Given the description of an element on the screen output the (x, y) to click on. 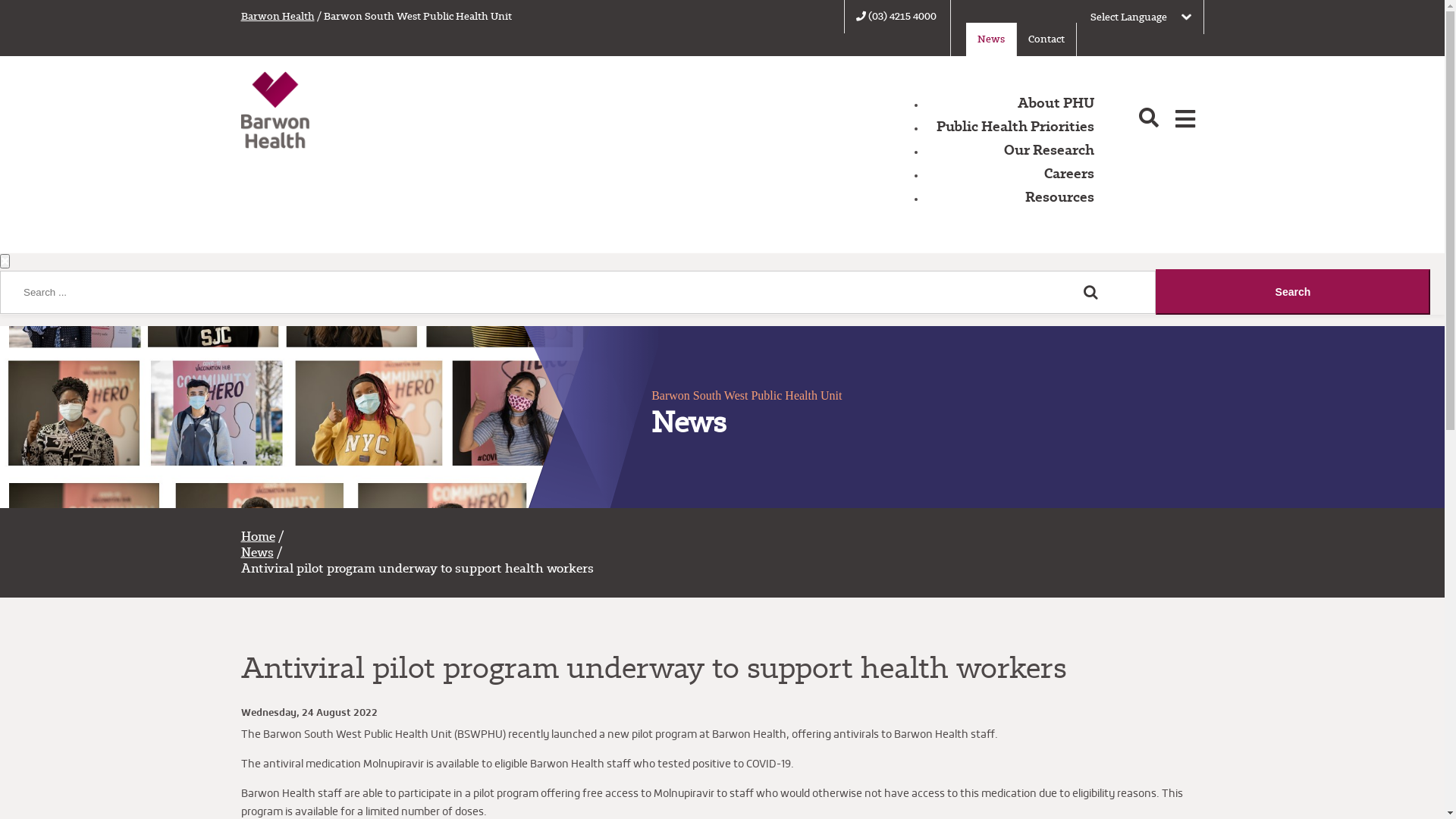
Public Health Priorities Element type: text (1015, 126)
Home Element type: text (258, 536)
Barwon Health Element type: text (277, 16)
Our Research Element type: text (1048, 149)
About PHU Element type: text (1055, 102)
Resources Element type: text (1059, 196)
News Element type: text (991, 39)
Careers Element type: text (1068, 173)
Search Element type: text (1292, 291)
Contact Element type: text (1045, 39)
News Element type: text (257, 552)
